Given the description of an element on the screen output the (x, y) to click on. 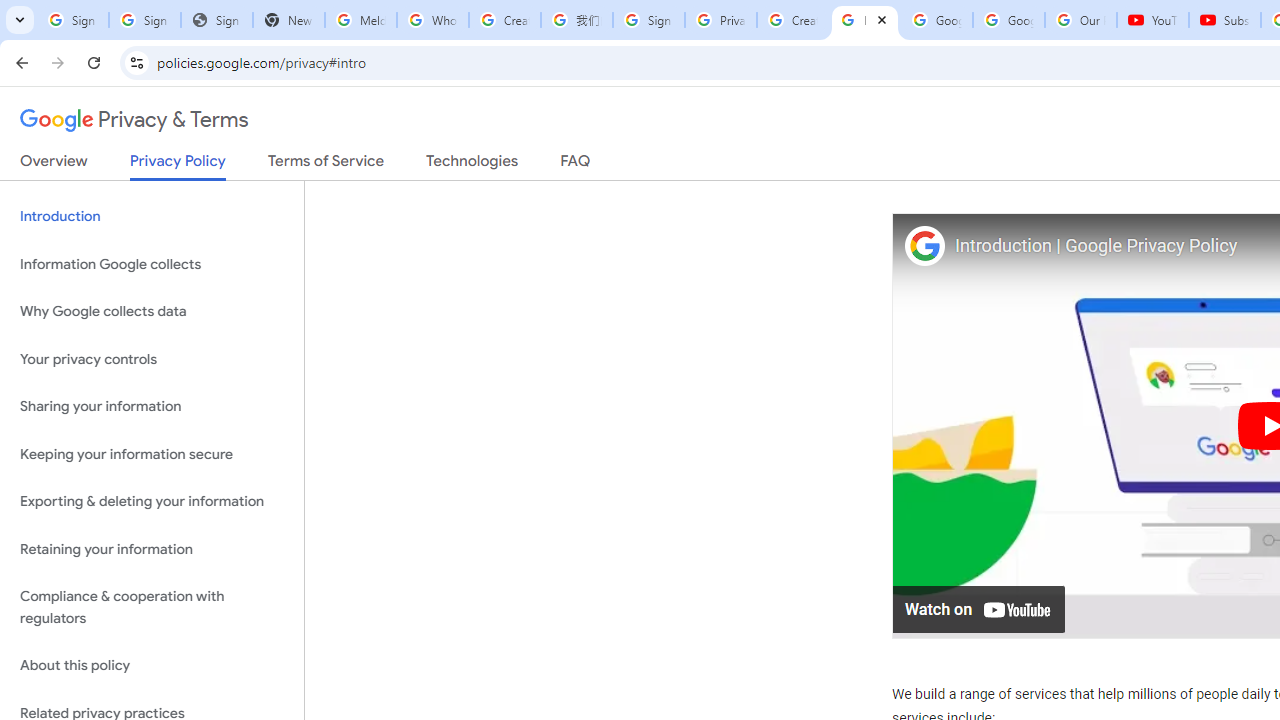
Sign in - Google Accounts (648, 20)
Watch on YouTube (979, 608)
Create your Google Account (792, 20)
YouTube (1153, 20)
New Tab (289, 20)
